Given the description of an element on the screen output the (x, y) to click on. 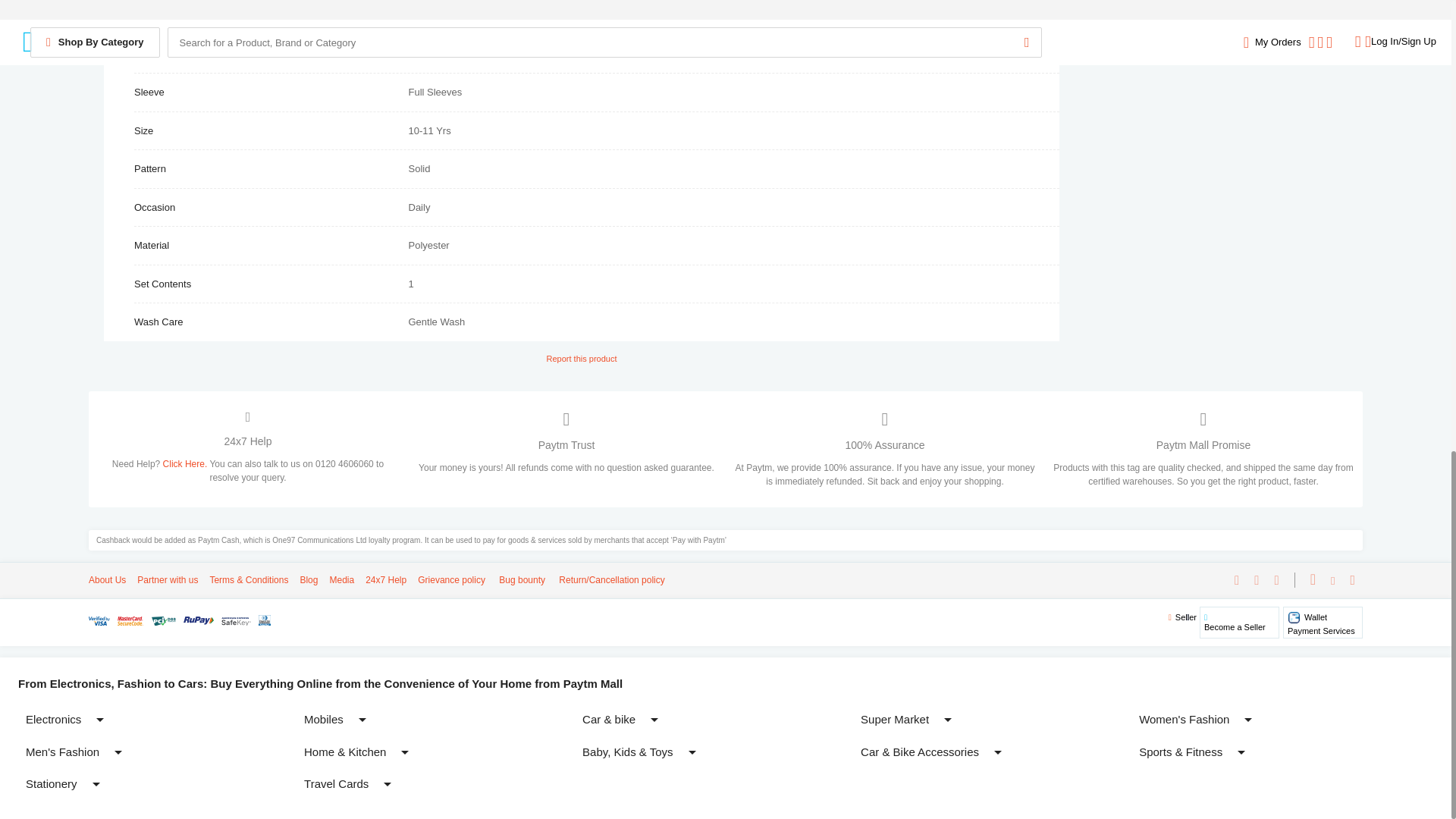
Click Here. (1322, 622)
Partner with us (186, 463)
About Us (167, 579)
Media (106, 579)
Blog (341, 579)
Grievance policy (308, 579)
Bug bounty (450, 579)
24x7 Help (520, 579)
